Given the description of an element on the screen output the (x, y) to click on. 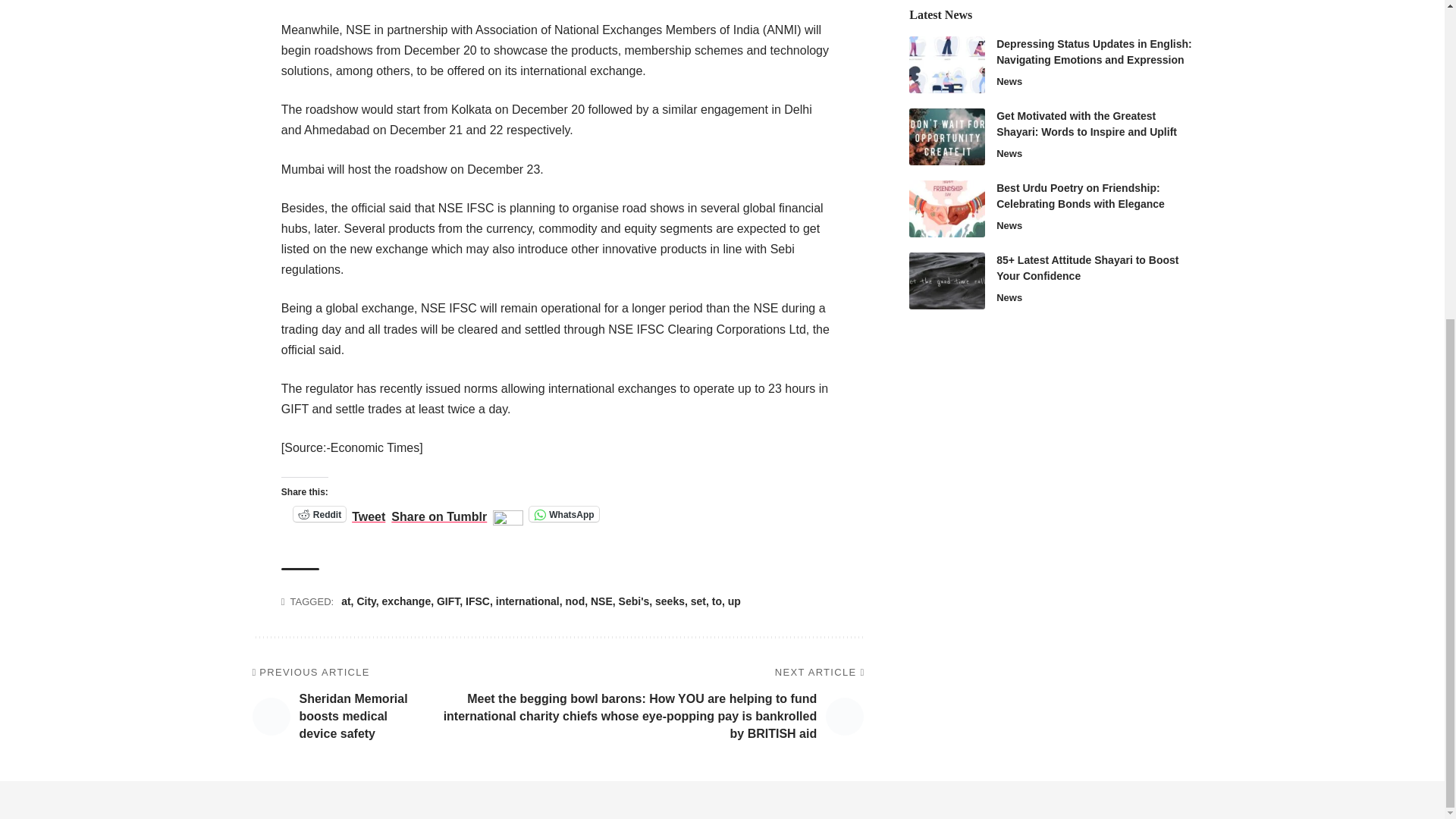
Share on Tumblr (438, 513)
Click to share on Reddit (320, 513)
Click to share on WhatsApp (563, 513)
